Given the description of an element on the screen output the (x, y) to click on. 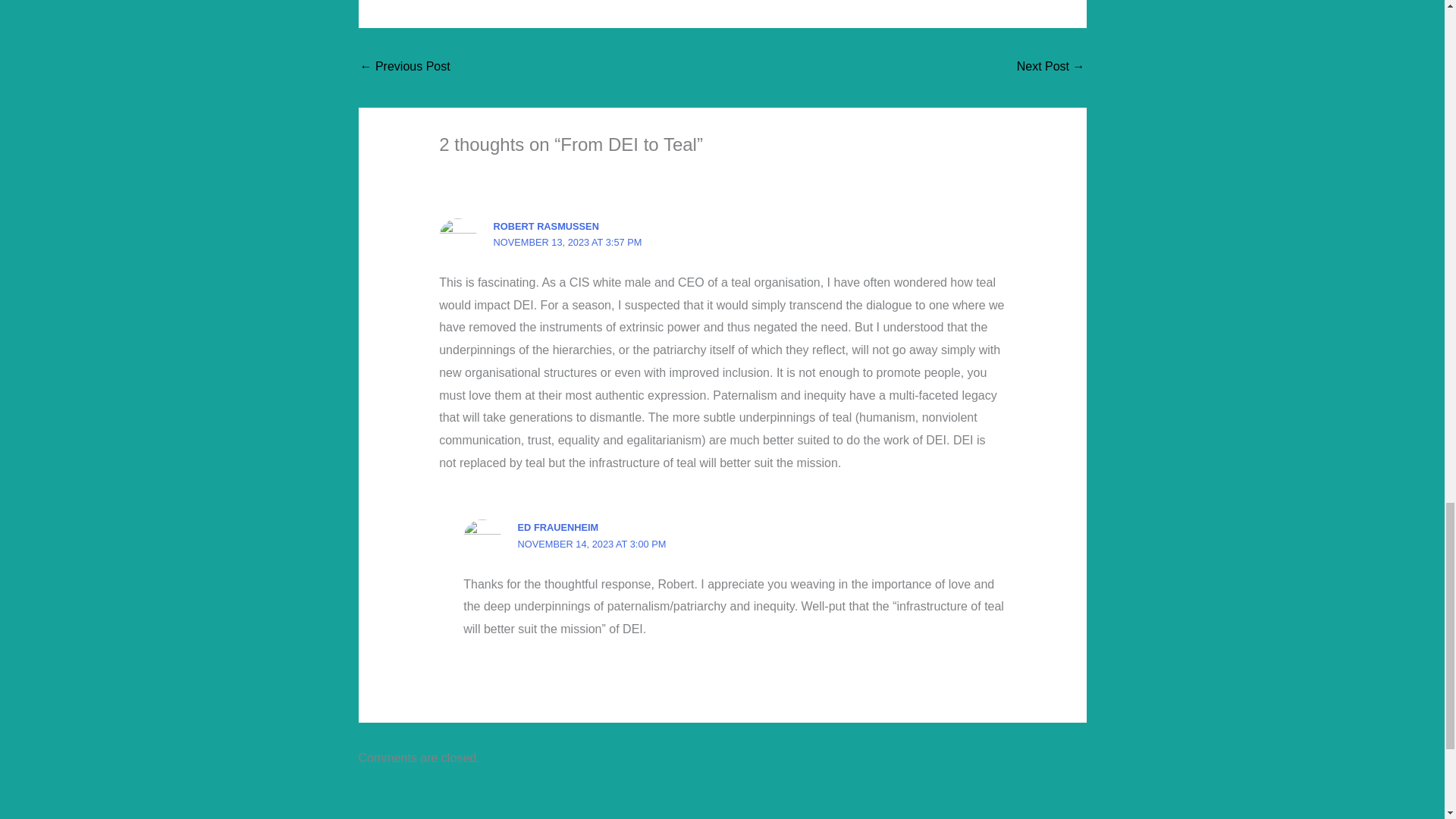
ED FRAUENHEIM (558, 527)
Embrace the Unfolding: Some Dirty Laundry (404, 67)
ROBERT RASMUSSEN (545, 225)
Helping Brave Souls Trek Toward Teal (1050, 67)
NOVEMBER 14, 2023 AT 3:00 PM (592, 543)
NOVEMBER 13, 2023 AT 3:57 PM (567, 242)
